Given the description of an element on the screen output the (x, y) to click on. 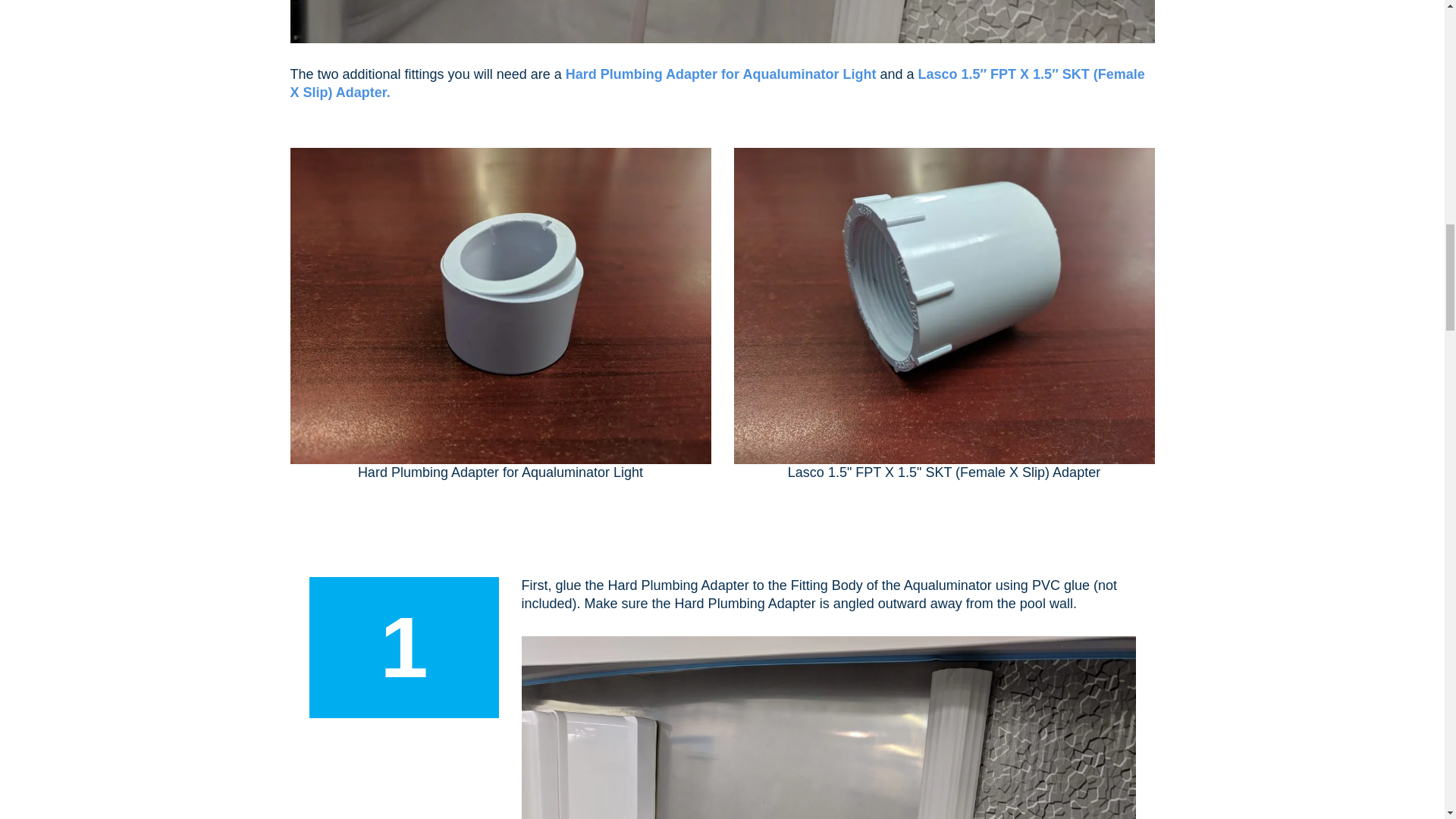
Lasco 1.5 (943, 305)
Hard Plumbing Adapter for Aqualuminator Light (499, 305)
install your Retro Jet RJ to your Aqualuminator (721, 21)
glue the Hard Plumbing Adapter to the Fitting Body (828, 727)
